Given the description of an element on the screen output the (x, y) to click on. 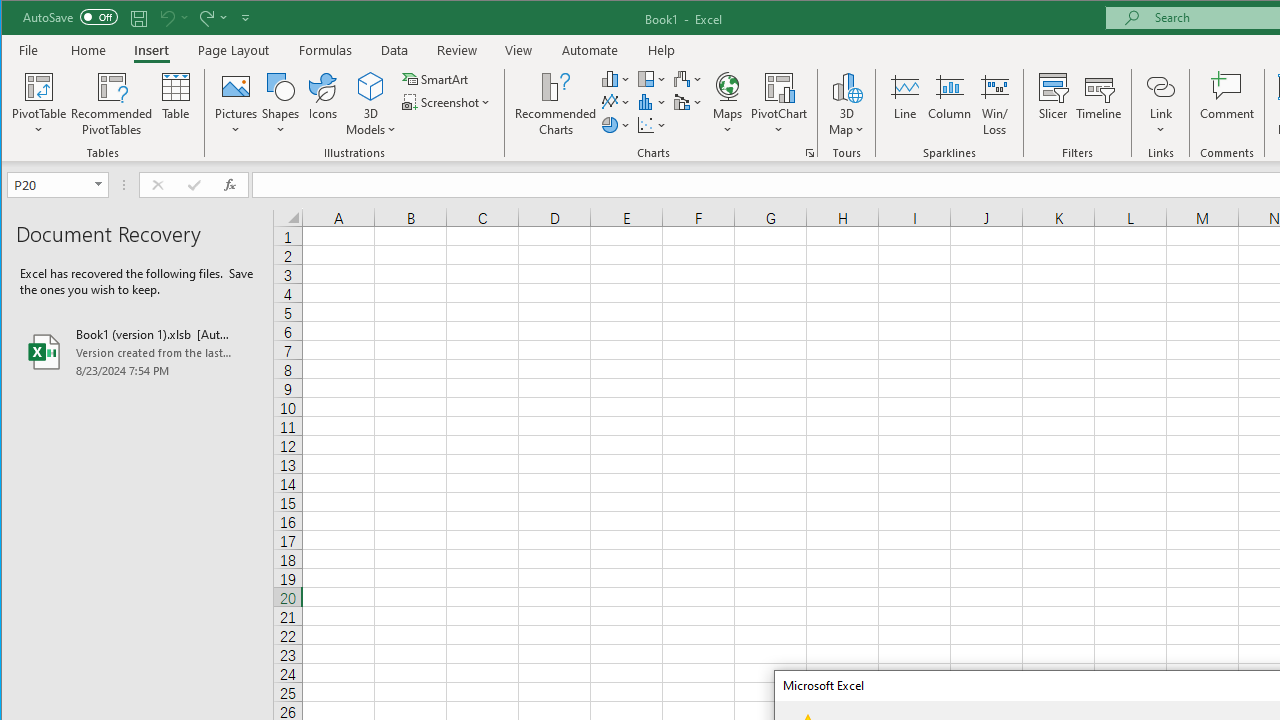
Line (904, 104)
Insert Column or Bar Chart (616, 78)
Insert Pie or Doughnut Chart (616, 124)
Icons (323, 104)
Column (949, 104)
PivotChart (779, 86)
Comment (1227, 104)
Link (1160, 104)
